Given the description of an element on the screen output the (x, y) to click on. 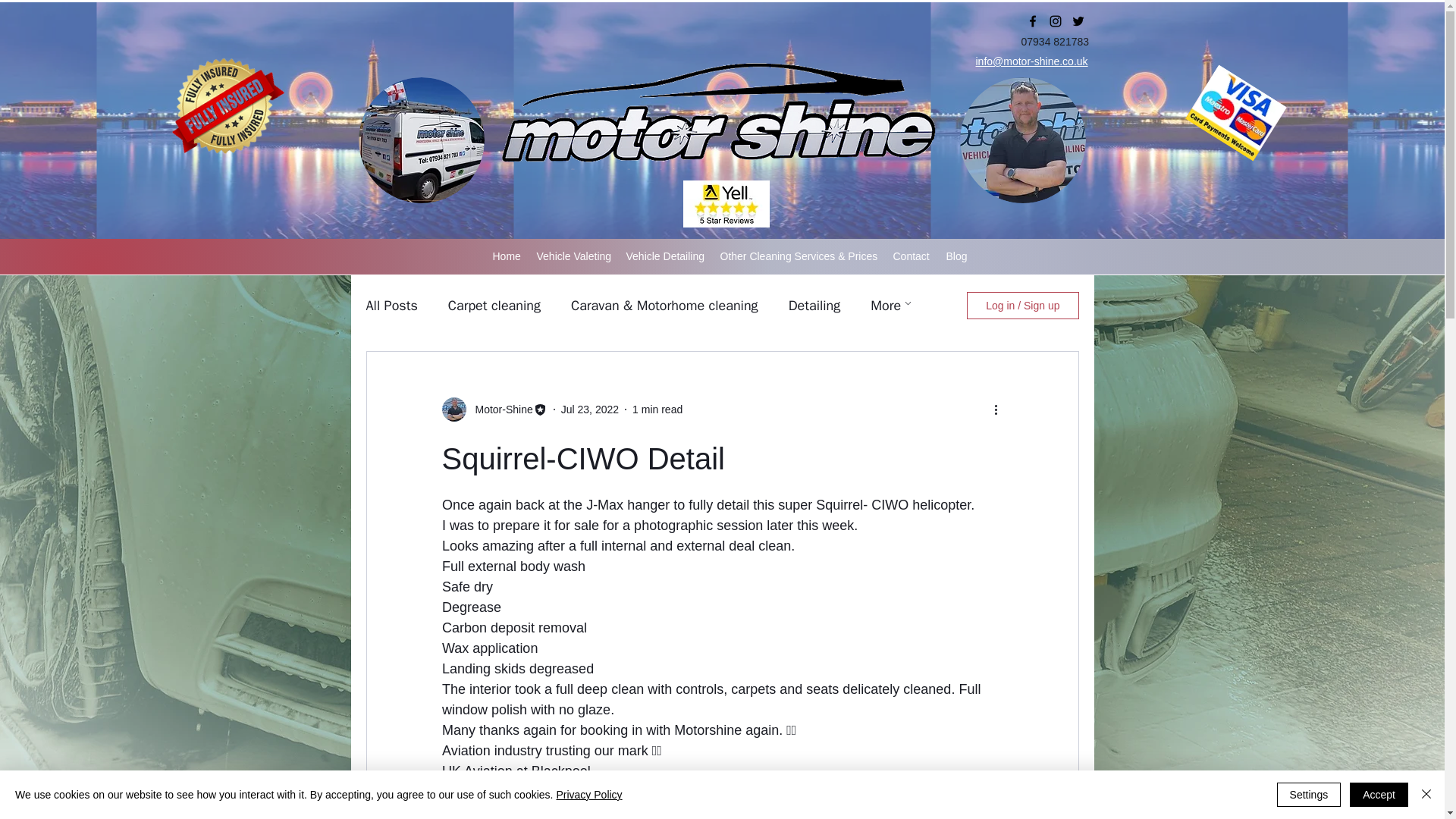
Blog (957, 256)
Motor-Shine (498, 409)
www.motor-shine.co.uk (511, 791)
Detailing (815, 305)
Vehicle Detailing (665, 256)
Jul 23, 2022 (589, 409)
Home (506, 256)
Carpet cleaning (494, 305)
All Posts (390, 305)
1 min read (656, 409)
Contact (912, 256)
Vehicle Valeting (573, 256)
